Given the description of an element on the screen output the (x, y) to click on. 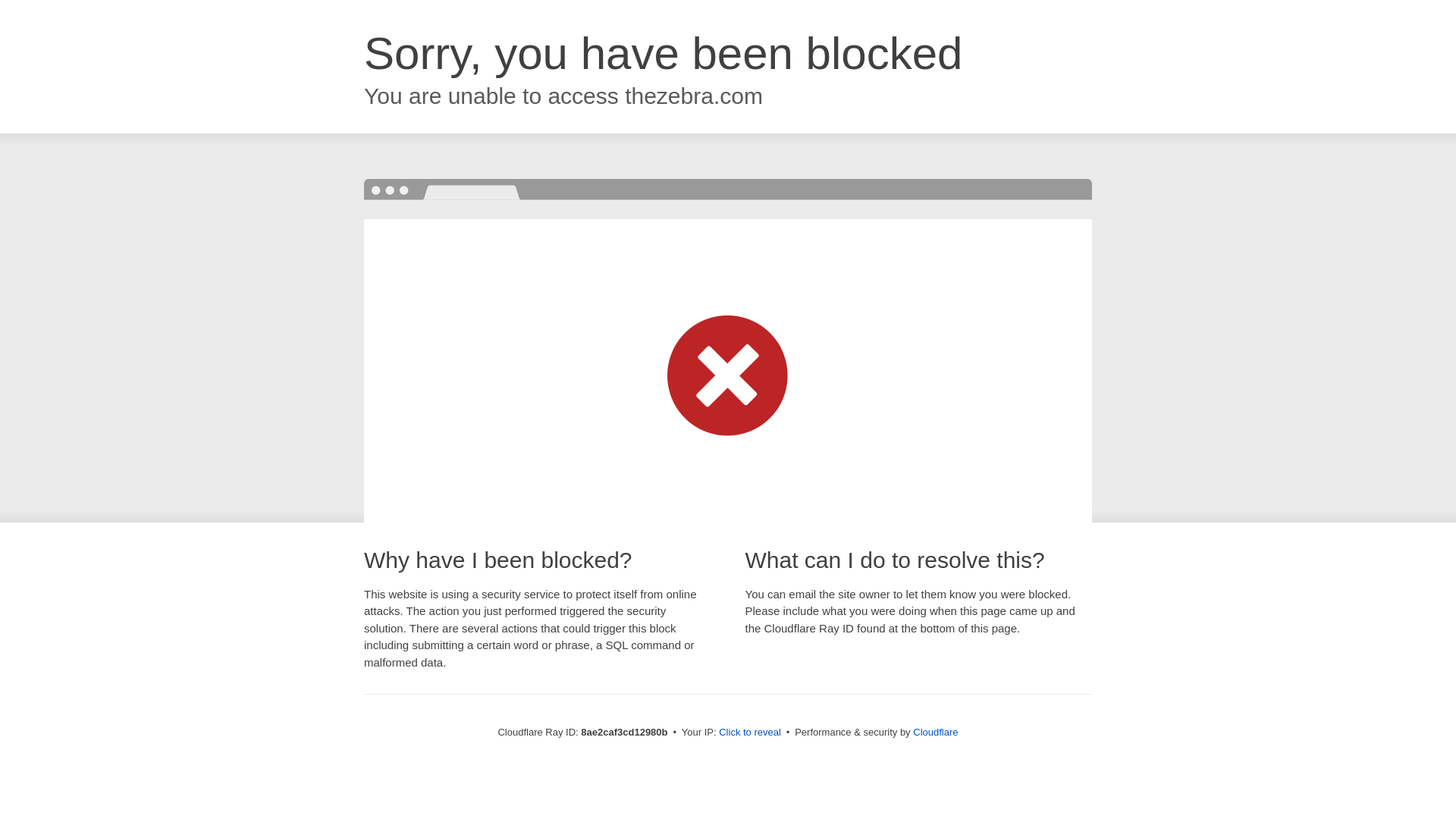
Click to reveal (749, 732)
Cloudflare (935, 731)
